Given the description of an element on the screen output the (x, y) to click on. 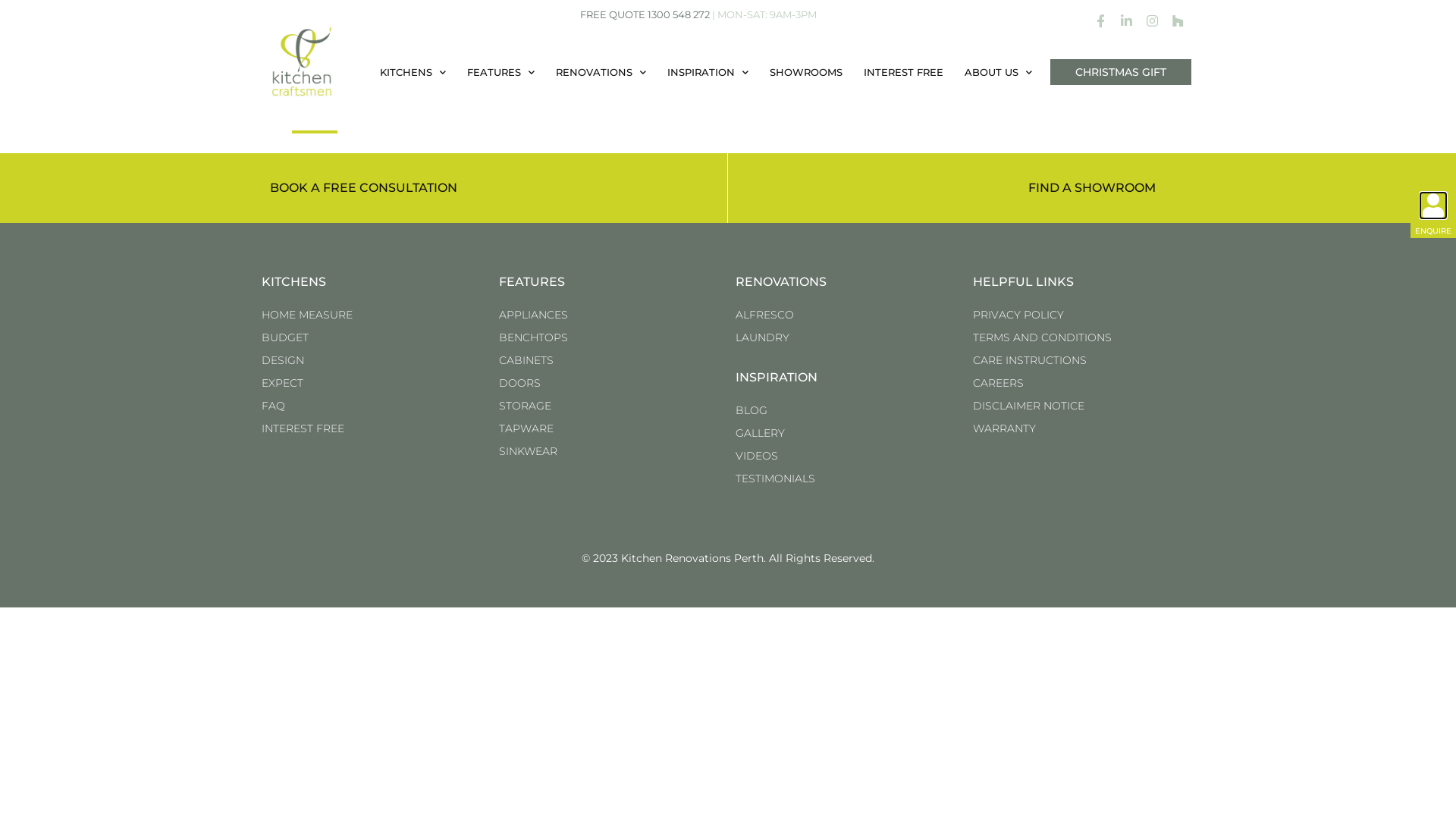
SINKWEAR Element type: text (609, 450)
CABINETS Element type: text (609, 359)
KITCHENS Element type: text (412, 71)
TAPWARE Element type: text (609, 428)
INTEREST FREE Element type: text (372, 428)
TERMS AND CONDITIONS Element type: text (1083, 337)
TESTIMONIALS Element type: text (846, 478)
PRIVACY POLICY Element type: text (1083, 314)
APPLIANCES Element type: text (609, 314)
FAQ Element type: text (372, 405)
DOORS Element type: text (609, 382)
CHRISTMAS GIFT Element type: text (1120, 71)
GALLERY Element type: text (846, 432)
WARRANTY Element type: text (1083, 428)
ALFRESCO Element type: text (846, 314)
BOOK A FREE CONSULTATION Element type: text (363, 187)
DISCLAIMER NOTICE Element type: text (1083, 405)
DESIGN Element type: text (372, 359)
ENQUIRE Element type: text (1433, 230)
SHOWROOMS Element type: text (806, 71)
BLOG Element type: text (846, 409)
BENCHTOPS Element type: text (609, 337)
LAUNDRY Element type: text (846, 337)
ABOUT US Element type: text (997, 71)
CAREERS Element type: text (1083, 382)
INTEREST FREE Element type: text (903, 71)
INSPIRATION Element type: text (707, 71)
EXPECT Element type: text (372, 382)
FEATURES Element type: text (500, 71)
HOME MEASURE Element type: text (372, 314)
VIDEOS Element type: text (846, 455)
RENOVATIONS Element type: text (600, 71)
BUDGET Element type: text (372, 337)
STORAGE Element type: text (609, 405)
FREE QUOTE 1300 548 272 Element type: text (644, 14)
CARE INSTRUCTIONS Element type: text (1083, 359)
